Given the description of an element on the screen output the (x, y) to click on. 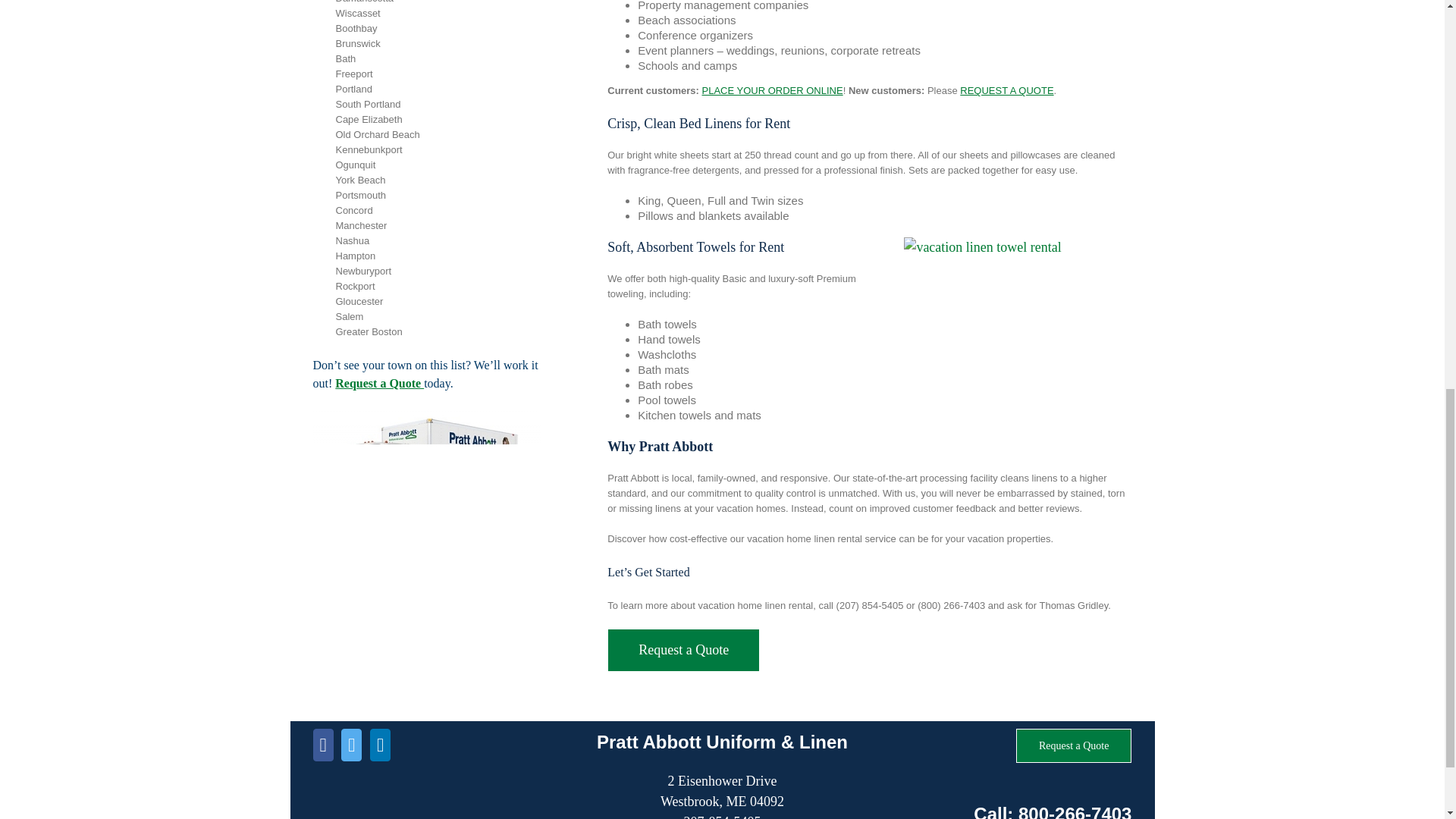
Request a Quote  (378, 382)
Pratt Abbott Delivery Truck (426, 468)
Request a Quote (683, 649)
Request a Quote (1074, 745)
REQUEST A QUOTE (1005, 90)
PLACE YOUR ORDER ONLINE (772, 90)
